Given the description of an element on the screen output the (x, y) to click on. 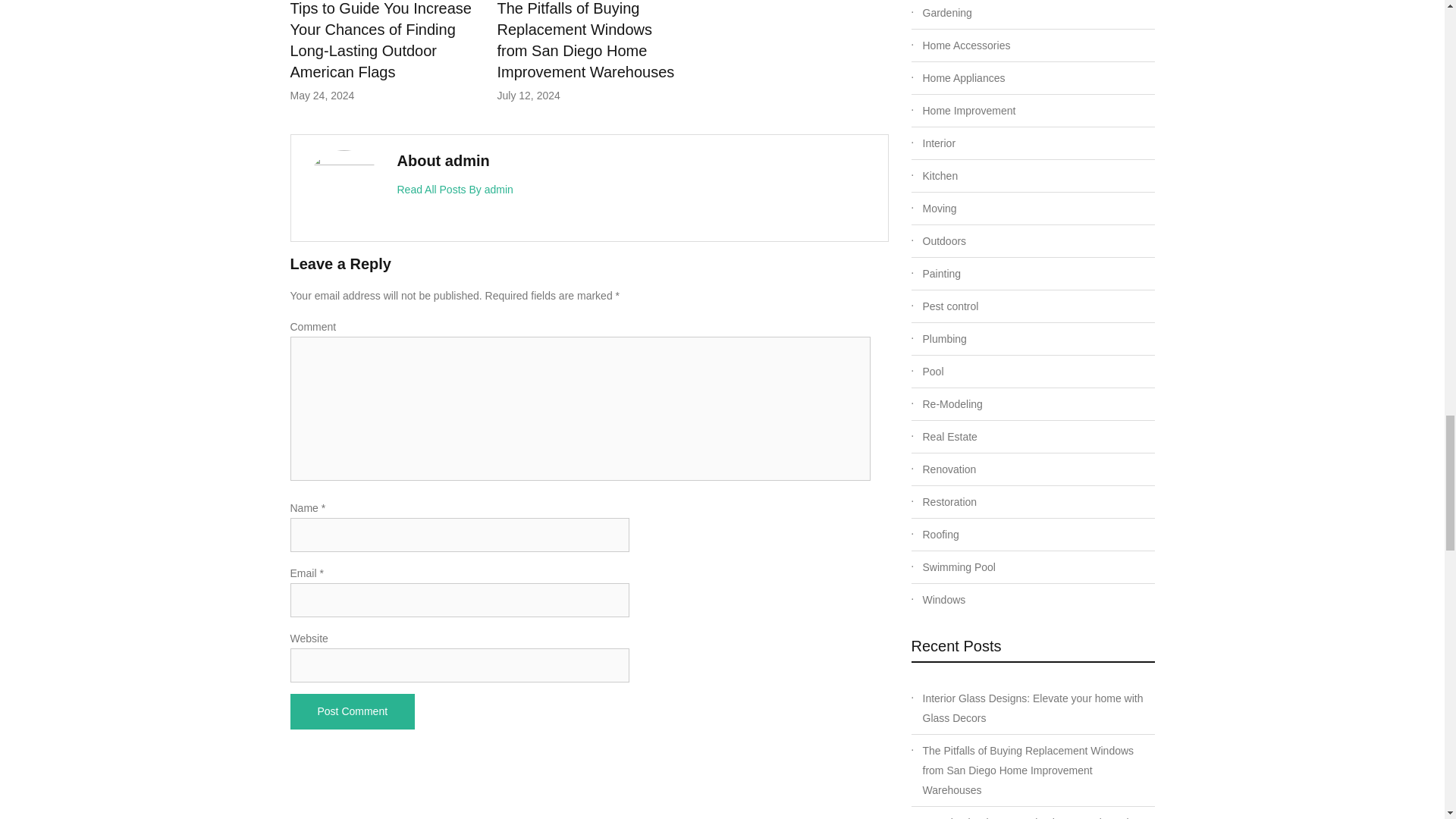
Post Comment (351, 711)
